Given the description of an element on the screen output the (x, y) to click on. 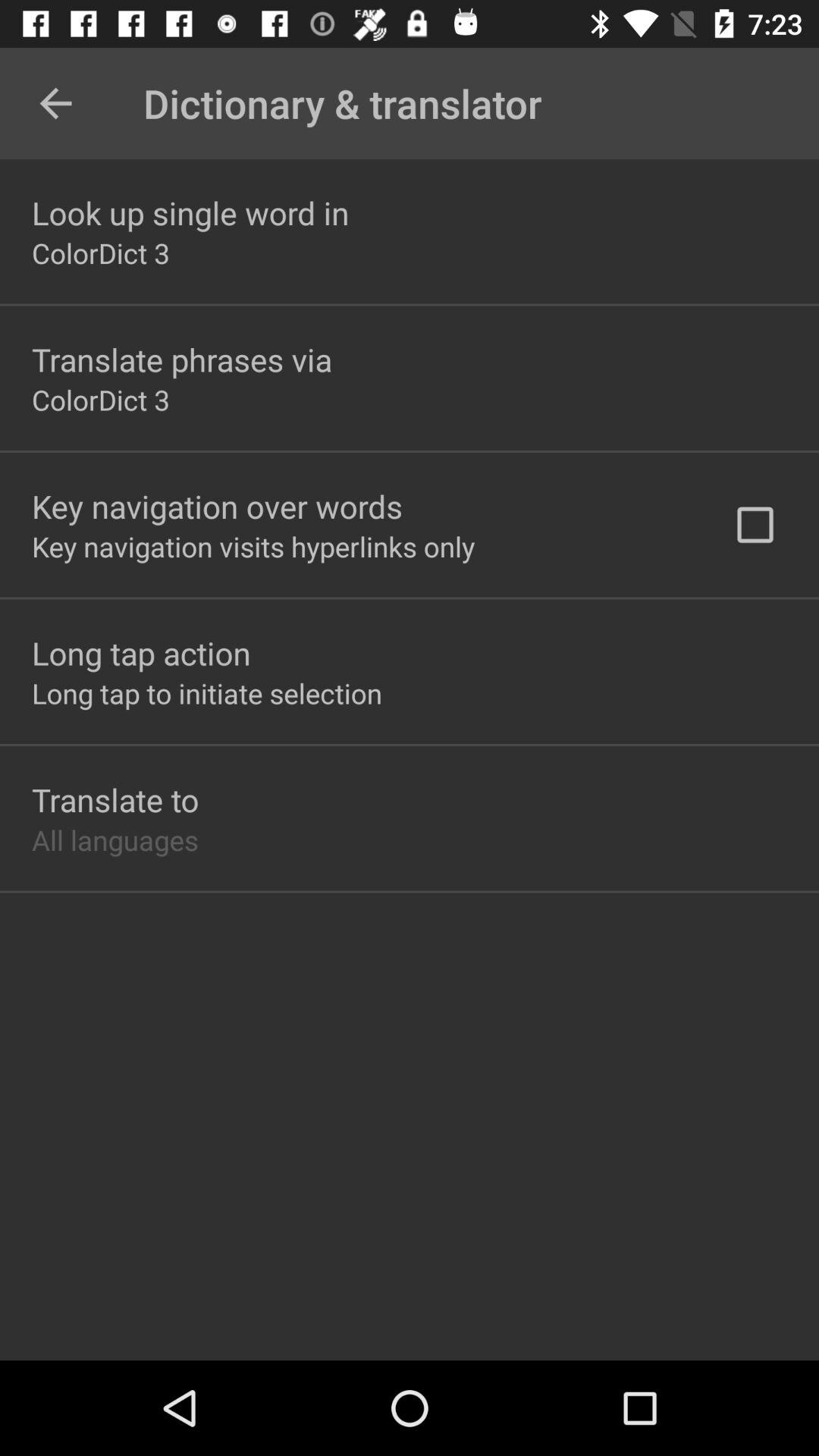
click on check box at right middle (755, 524)
